Given the description of an element on the screen output the (x, y) to click on. 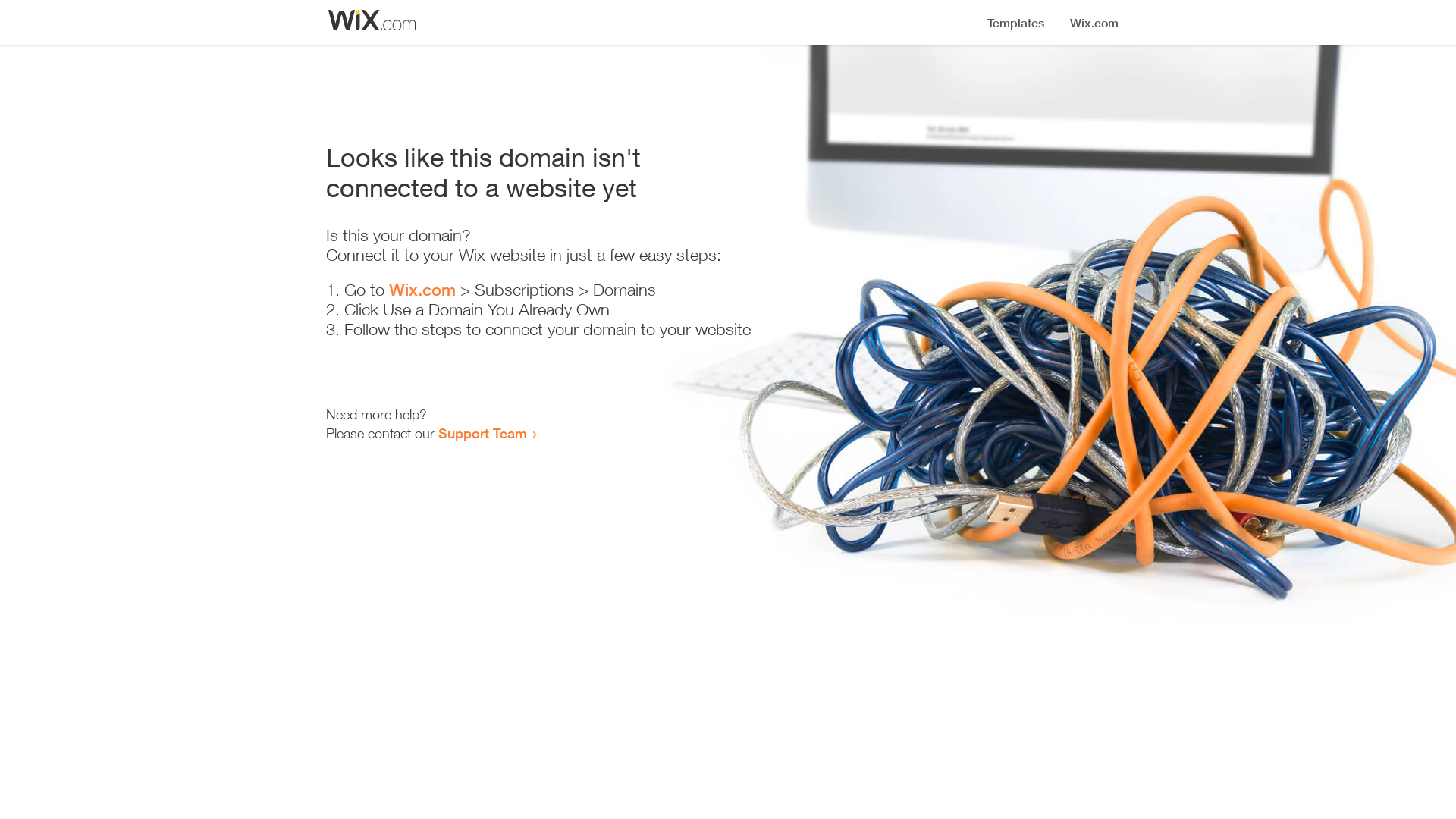
Wix.com Element type: text (422, 289)
Support Team Element type: text (482, 432)
